Given the description of an element on the screen output the (x, y) to click on. 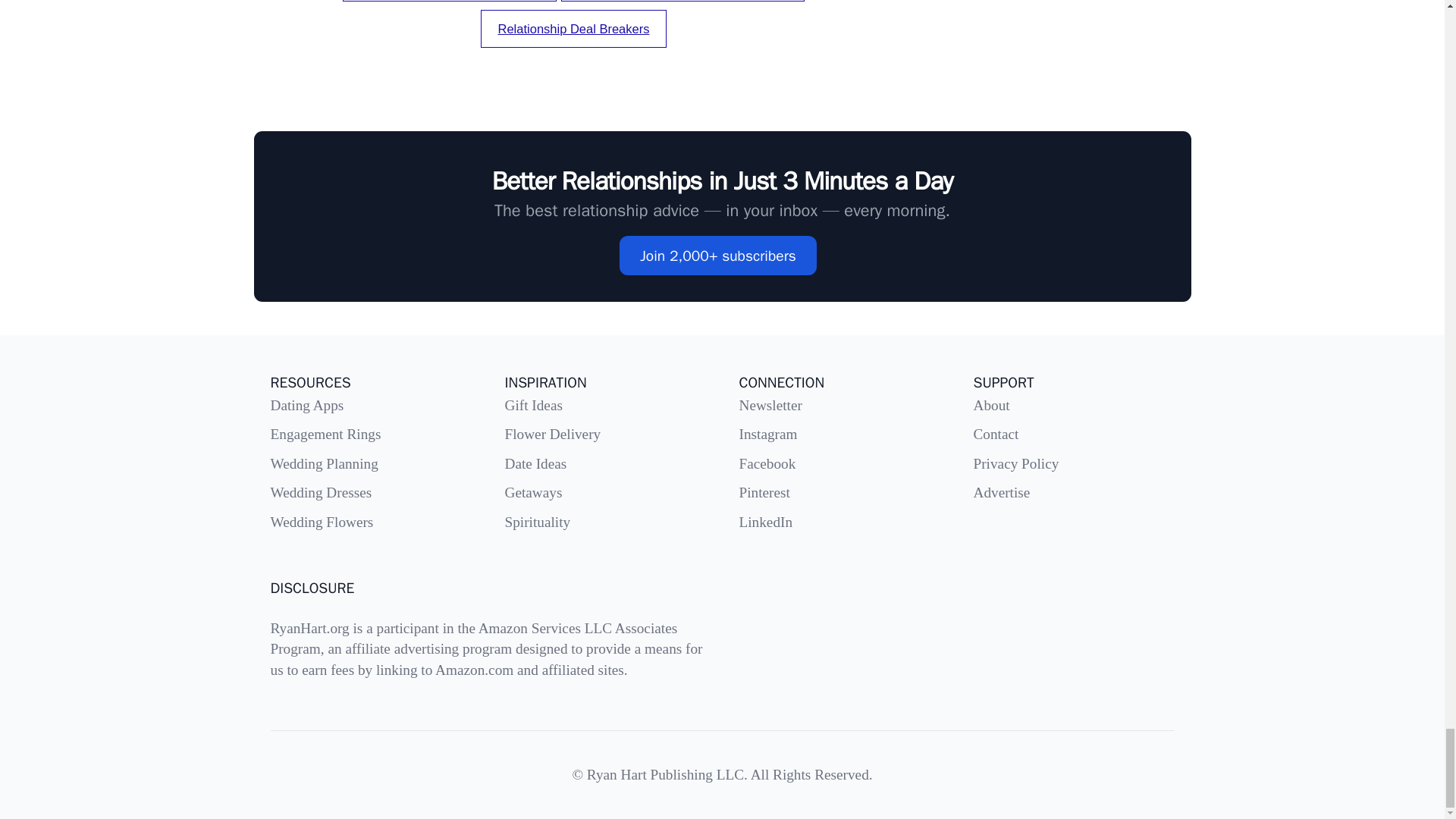
Wedding Planning (323, 463)
Dating Apps (306, 405)
Relationship Deal Breakers (573, 28)
Engagement Rings (324, 433)
